Given the description of an element on the screen output the (x, y) to click on. 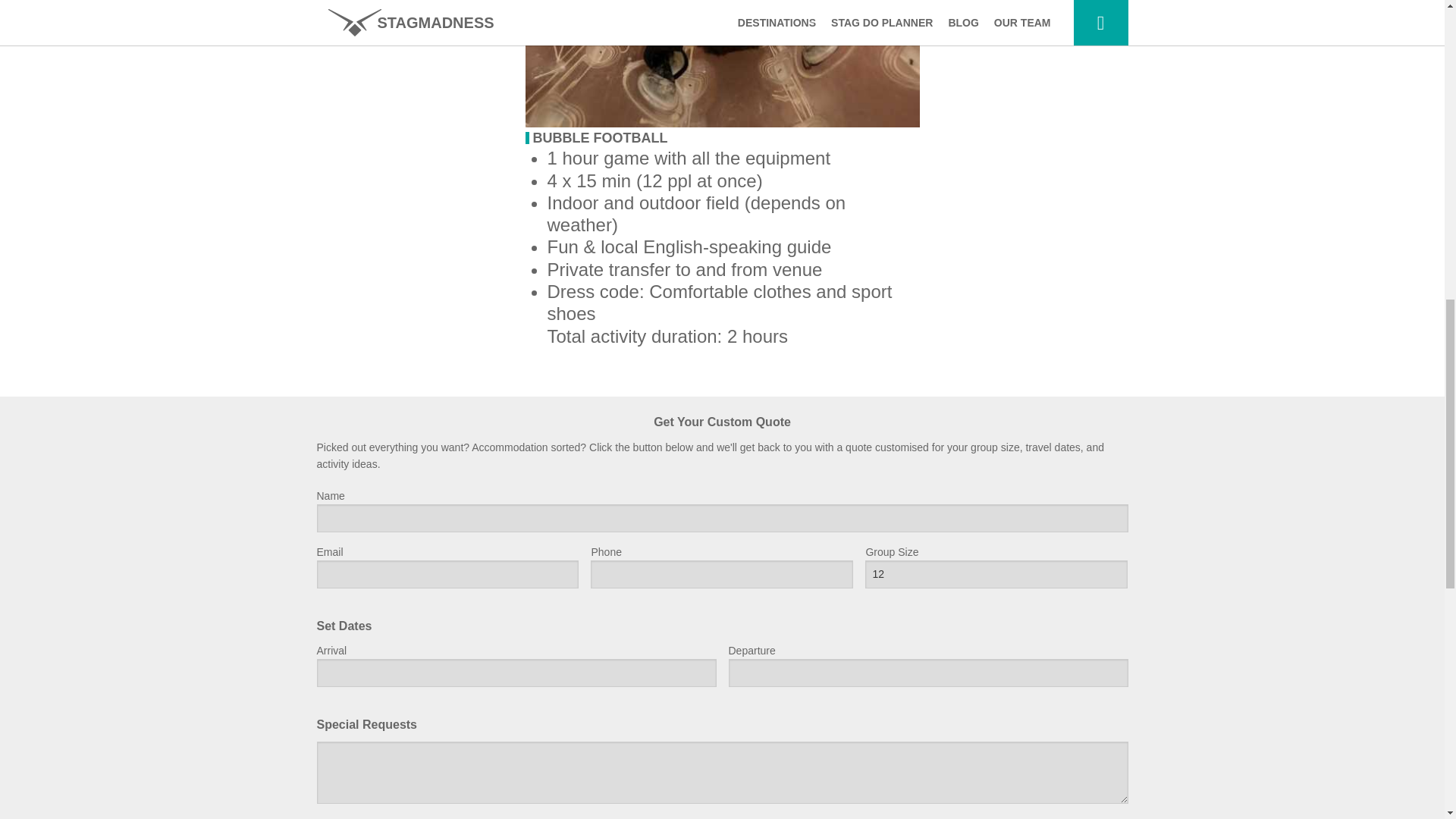
12 (995, 574)
BUBBLE FOOTBALL (599, 137)
